Given the description of an element on the screen output the (x, y) to click on. 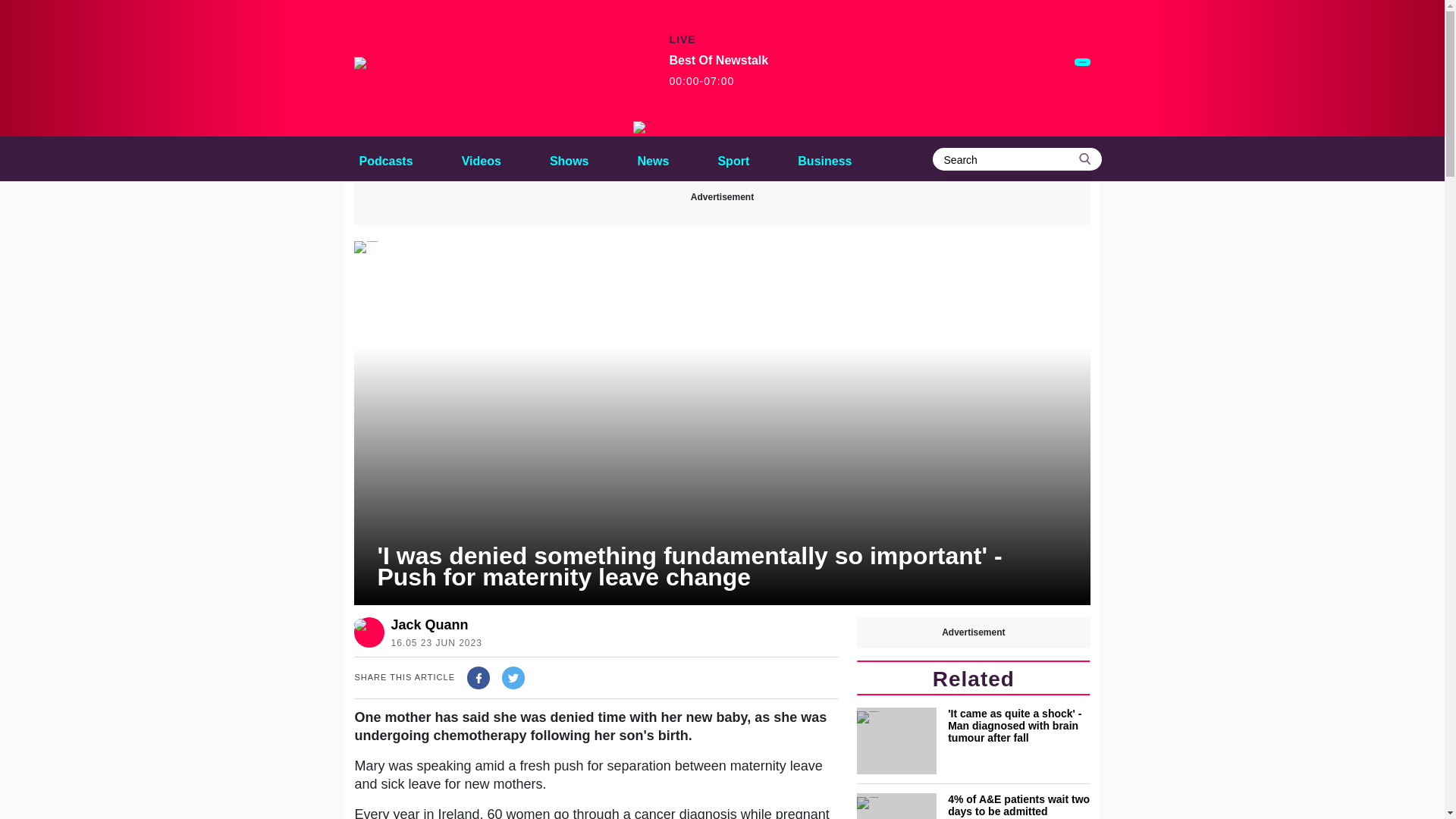
Best Of Newstalk (641, 127)
Sport (733, 158)
Videos (481, 158)
Jack Quann (433, 624)
Shows (718, 70)
Videos (569, 158)
Shows (481, 158)
Podcasts (569, 158)
Business (384, 158)
News (824, 158)
News (653, 158)
Business (653, 158)
Sport (824, 158)
